Given the description of an element on the screen output the (x, y) to click on. 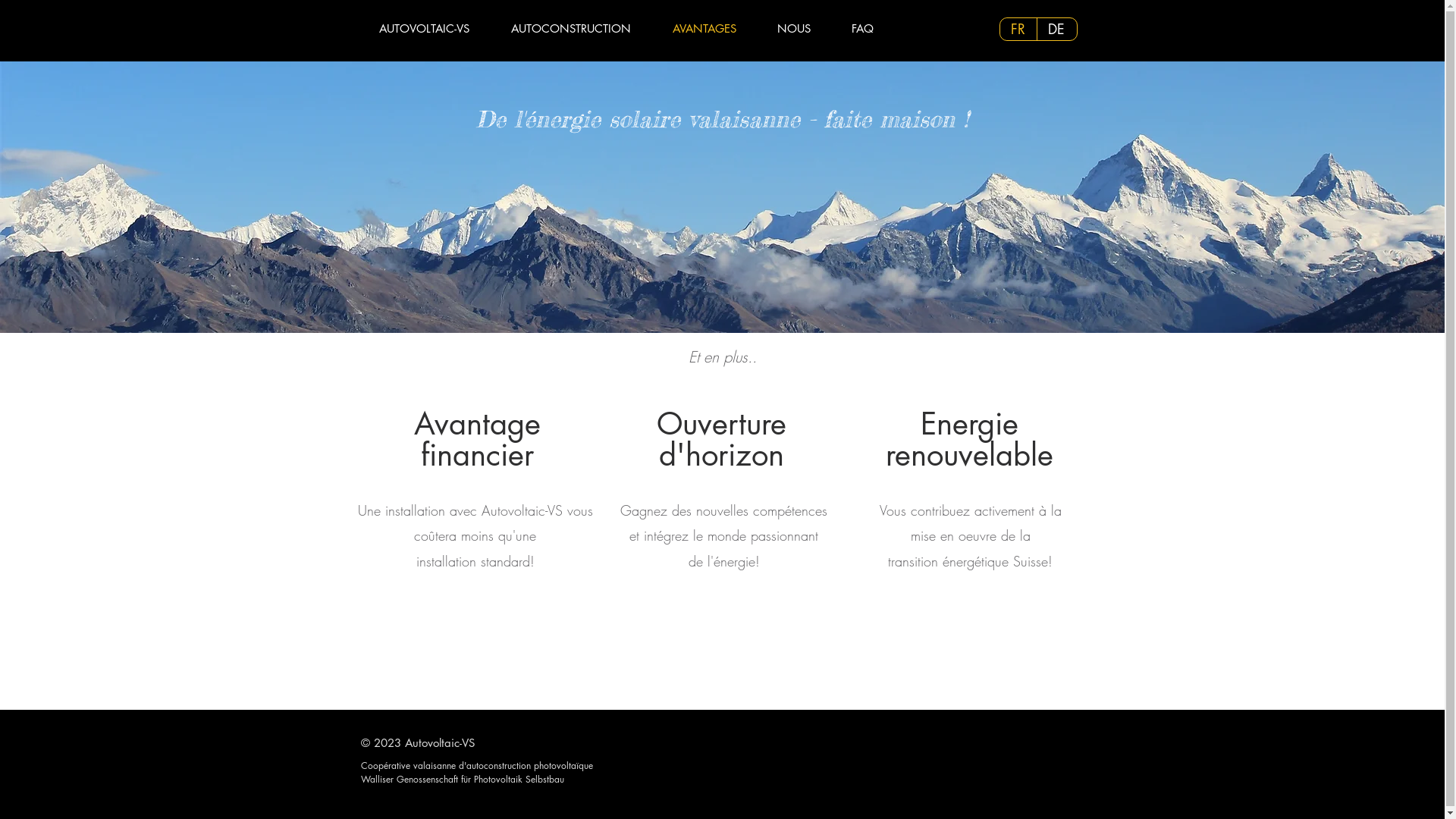
AVANTAGES Element type: text (713, 28)
FR Element type: text (1017, 29)
FAQ Element type: text (871, 28)
DE Element type: text (1056, 29)
AUTOCONSTRUCTION Element type: text (579, 28)
NOUS Element type: text (802, 28)
AUTOVOLTAIC-VS Element type: text (432, 28)
